Given the description of an element on the screen output the (x, y) to click on. 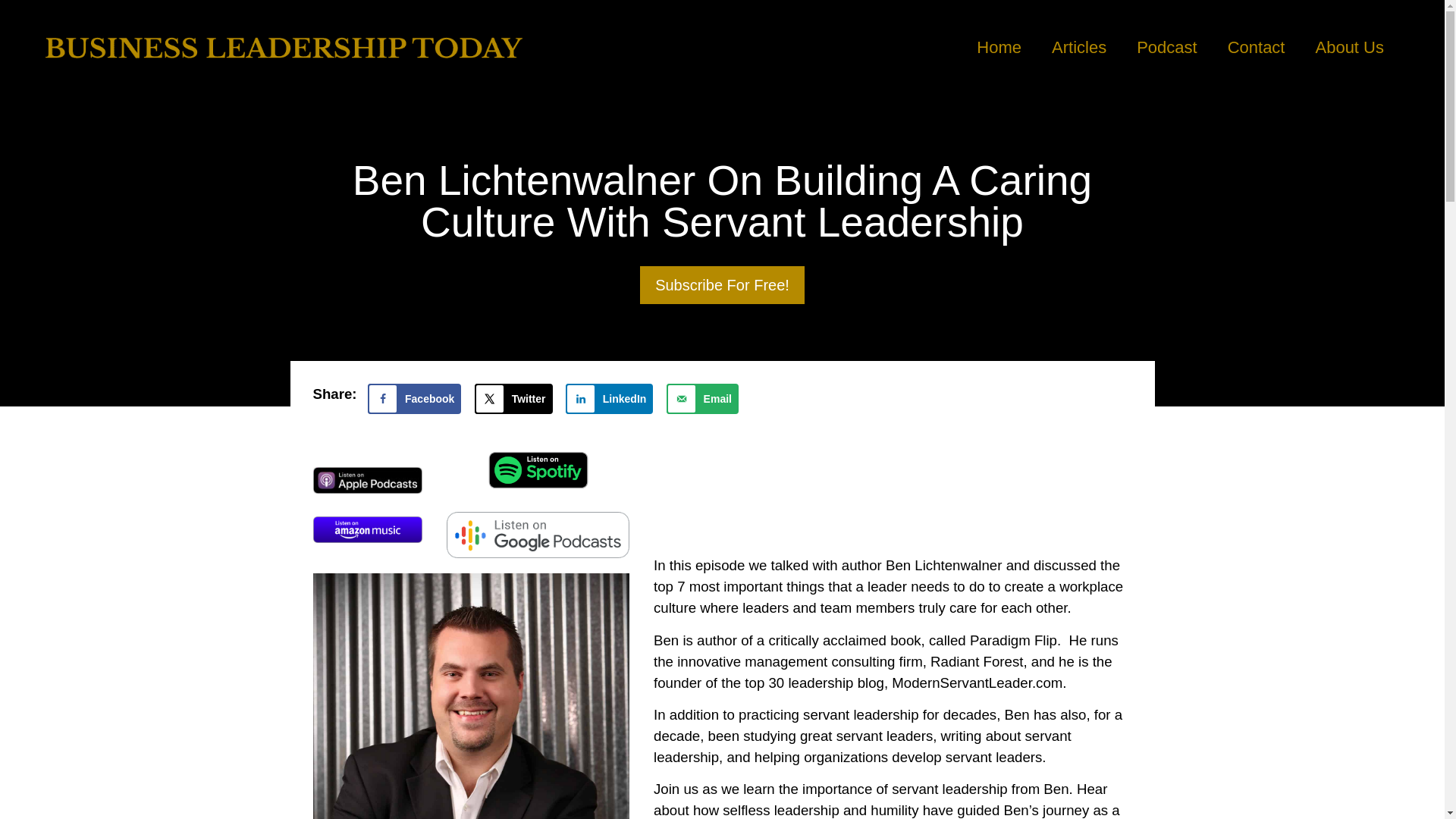
Facebook (414, 399)
Home (998, 47)
About Us (1349, 47)
Twitter (513, 399)
Articles (1078, 47)
Email (702, 399)
Share on LinkedIn (609, 399)
LinkedIn (609, 399)
Share on X (513, 399)
Send over email (702, 399)
